Given the description of an element on the screen output the (x, y) to click on. 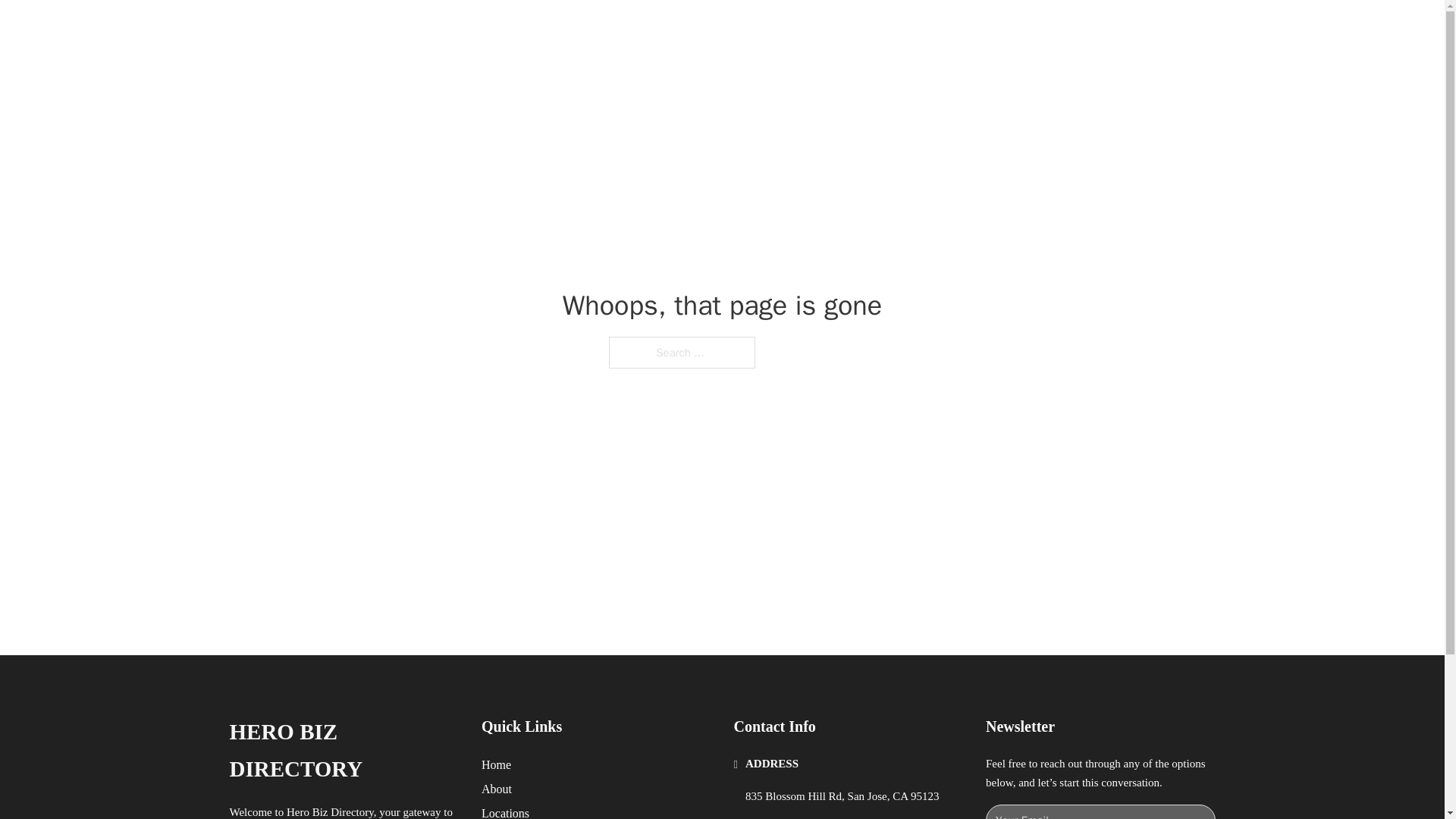
LOCATIONS (978, 29)
Locations (505, 811)
Home (496, 764)
HERO BIZ DIRECTORY (343, 750)
HERO BIZ DIRECTORY (417, 28)
HOME (907, 29)
About (496, 788)
